Given the description of an element on the screen output the (x, y) to click on. 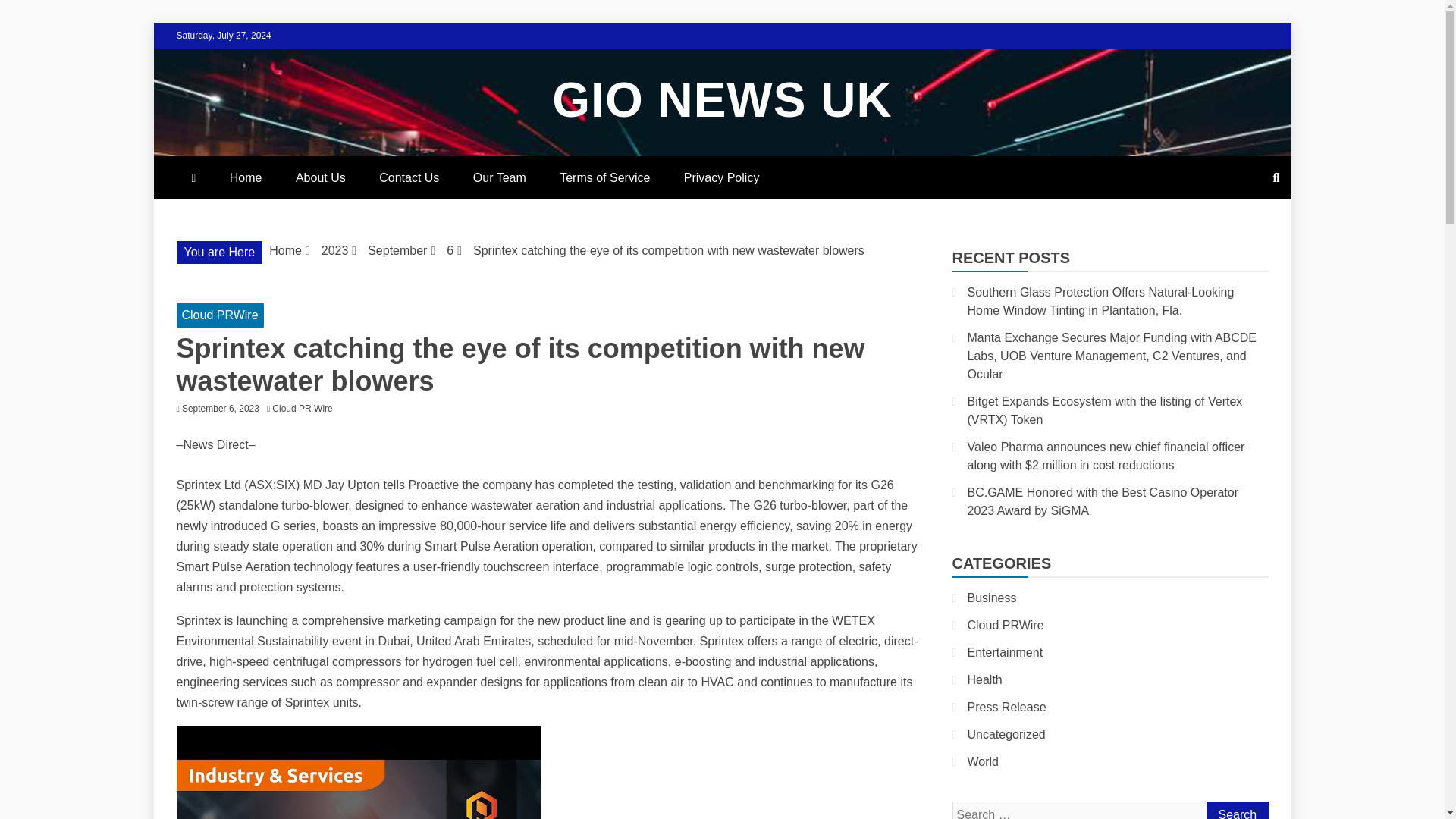
September 6, 2023 (220, 408)
About Us (321, 177)
Search (1236, 810)
Privacy Policy (721, 177)
Cloud PR Wire (305, 408)
2023 (335, 250)
Cloud PRWire (219, 314)
Search (1236, 810)
6 (449, 250)
Home (285, 250)
Terms of Service (604, 177)
September (397, 250)
GIO NEWS UK (721, 99)
